Given the description of an element on the screen output the (x, y) to click on. 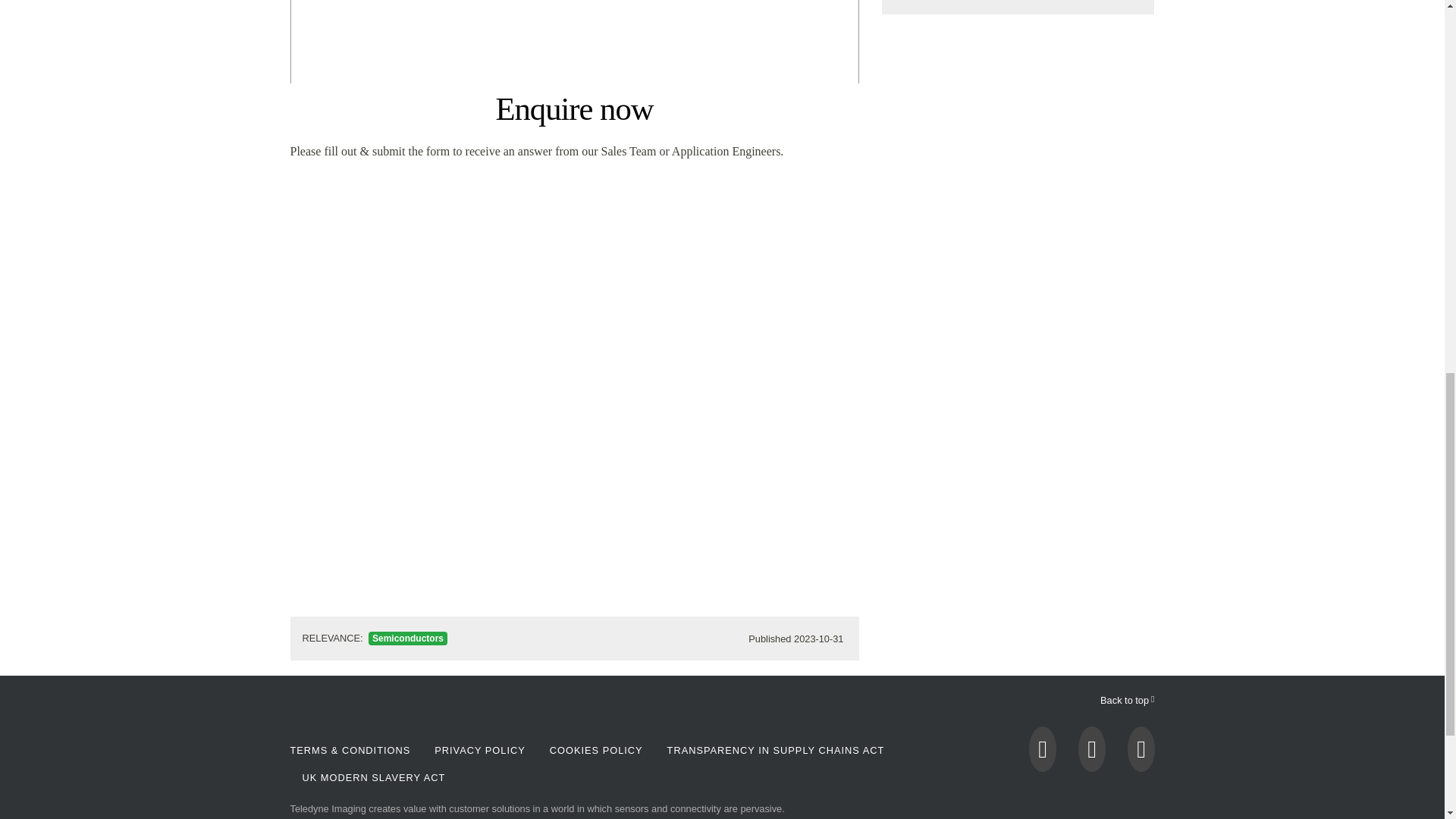
Connect with us on LinkedIn (1140, 753)
Follow us on Twitter (1043, 753)
Subscribe to our Youtube channel (1091, 753)
